Given the description of an element on the screen output the (x, y) to click on. 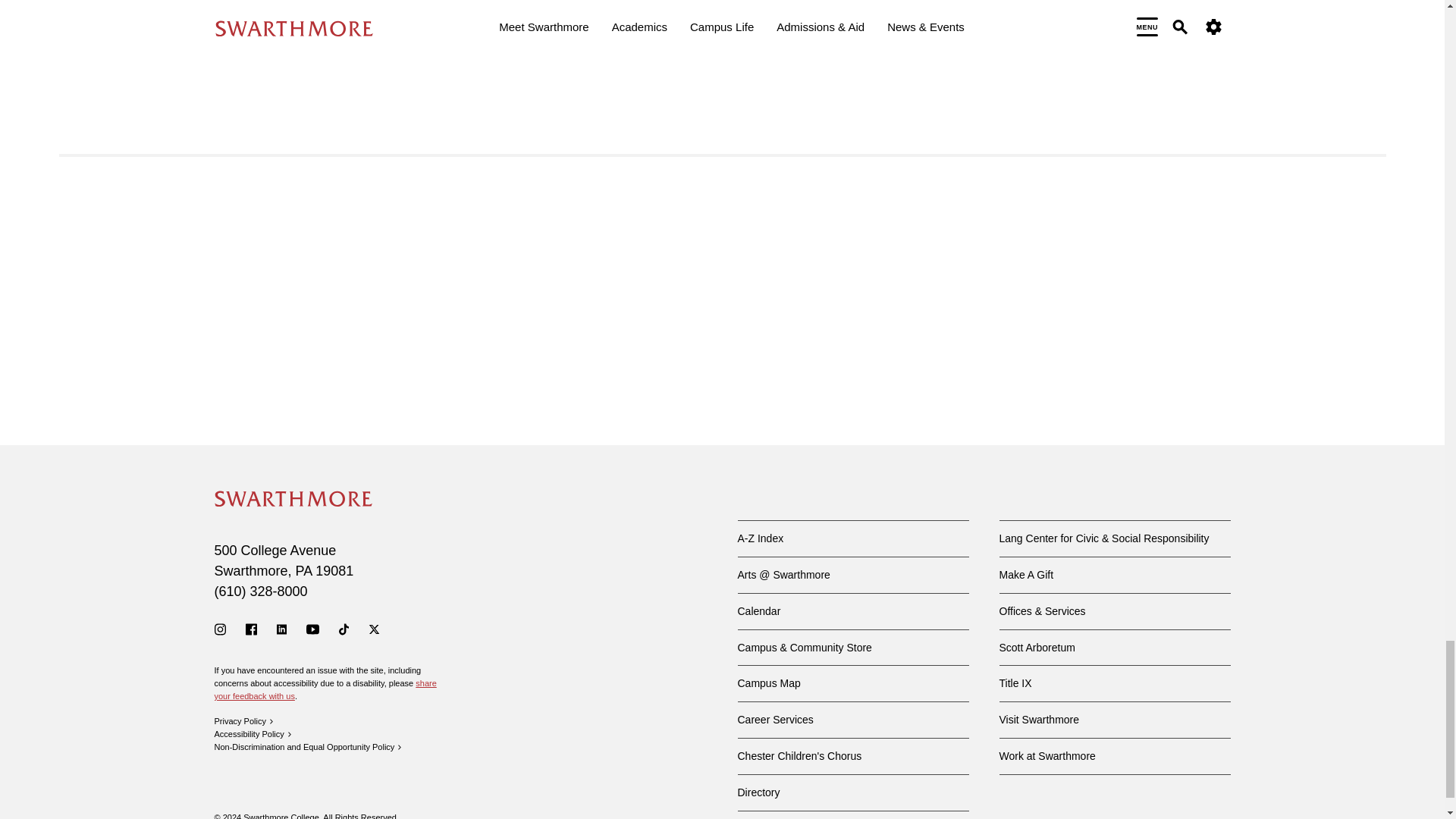
Instagram (219, 629)
Facebook (251, 629)
YouTube (311, 629)
Swarthmore College - Home (292, 498)
